Given the description of an element on the screen output the (x, y) to click on. 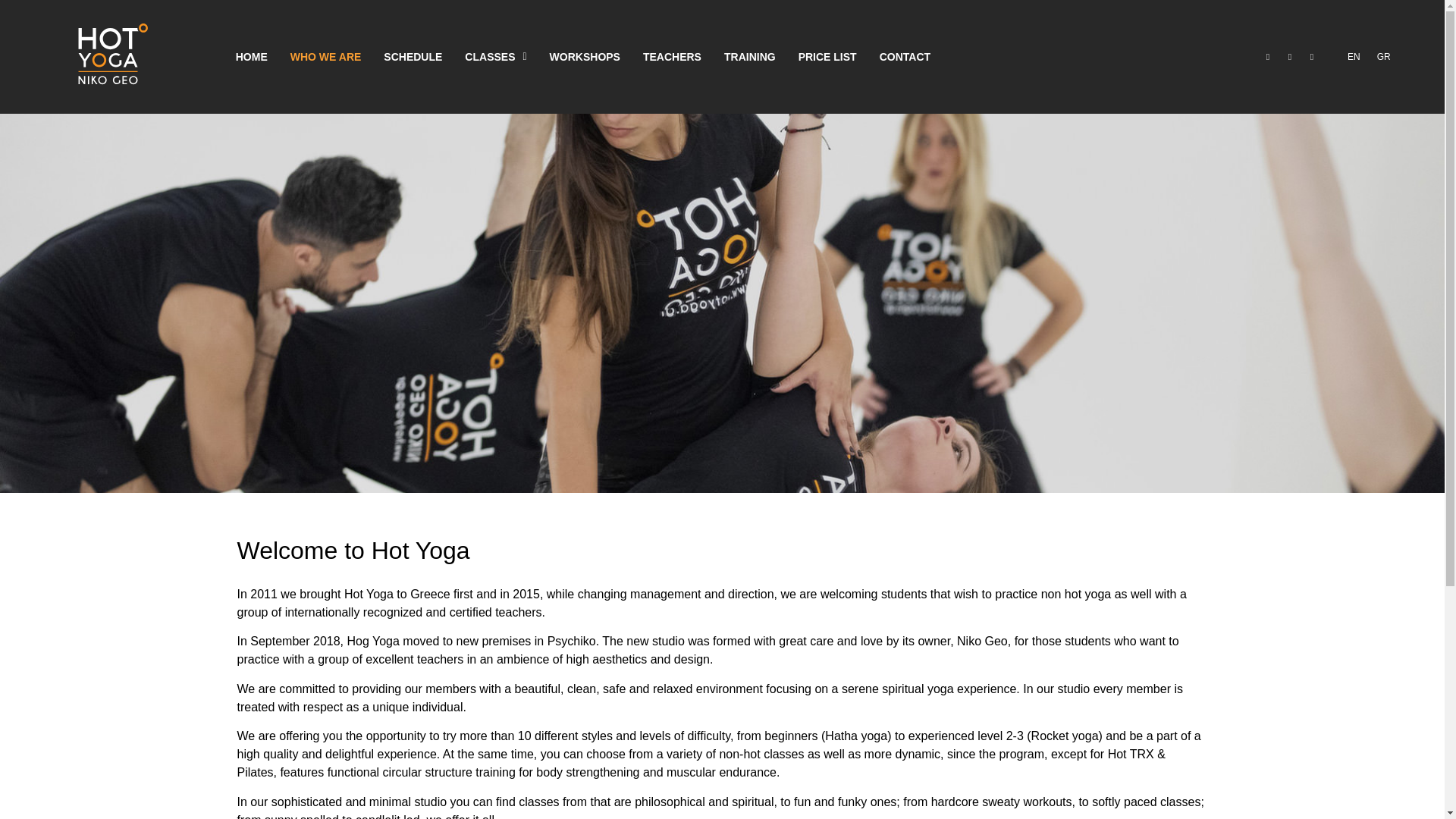
CLASSES (494, 56)
CONTACT (904, 56)
HOME (251, 56)
SCHEDULE (412, 56)
TRAINING (750, 56)
WHO WE ARE (325, 56)
TEACHERS (672, 56)
PRICE LIST (827, 56)
WORKSHOPS (584, 56)
EN (1350, 57)
